Given the description of an element on the screen output the (x, y) to click on. 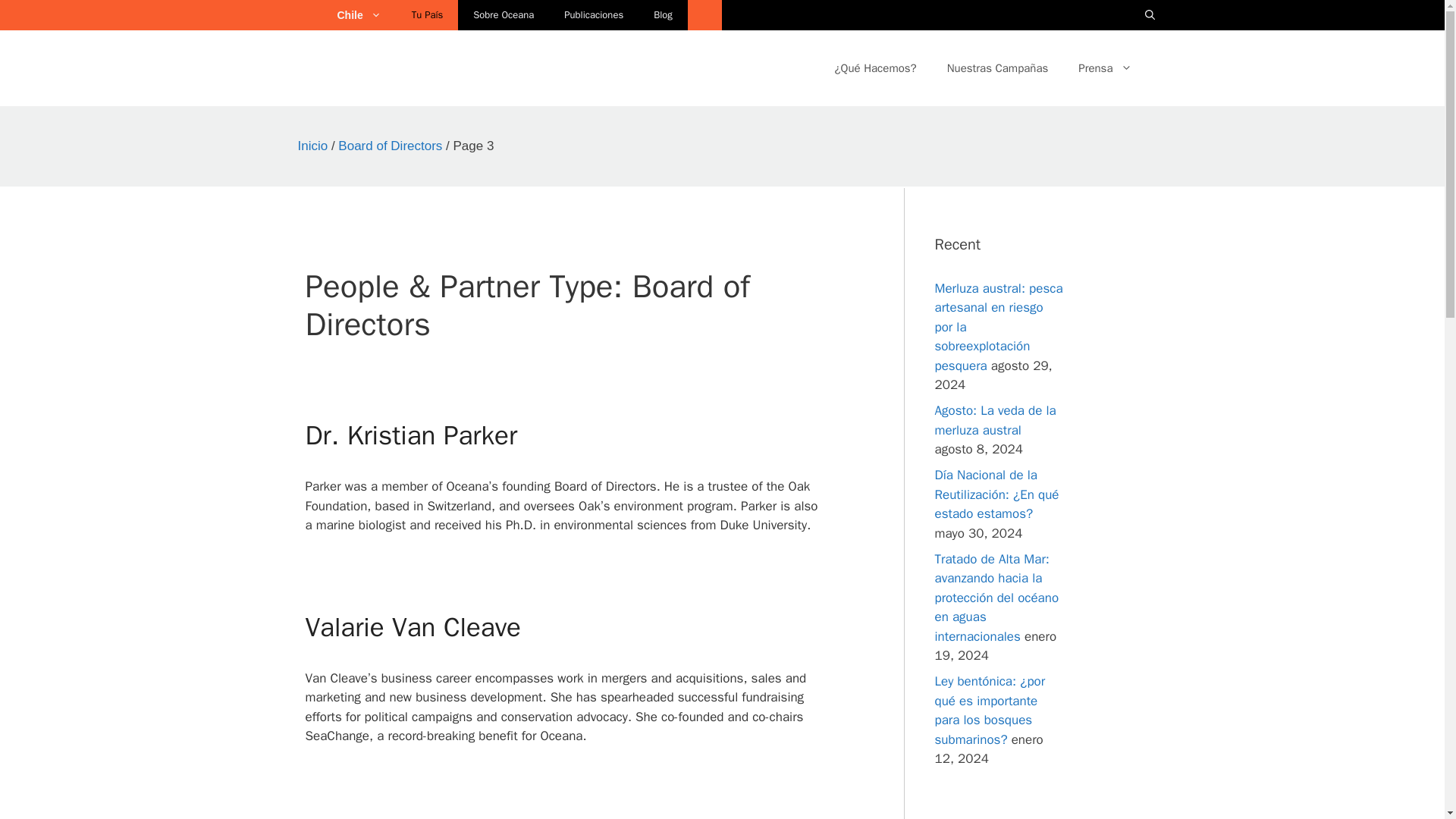
Publicaciones (593, 15)
Inicio (312, 145)
Chile (366, 15)
Board of Directors (389, 145)
Blog (663, 15)
Dr. Kristian Parker (410, 435)
Prensa (1104, 67)
Sobre Oceana (503, 15)
Valarie Van Cleave (411, 626)
